Given the description of an element on the screen output the (x, y) to click on. 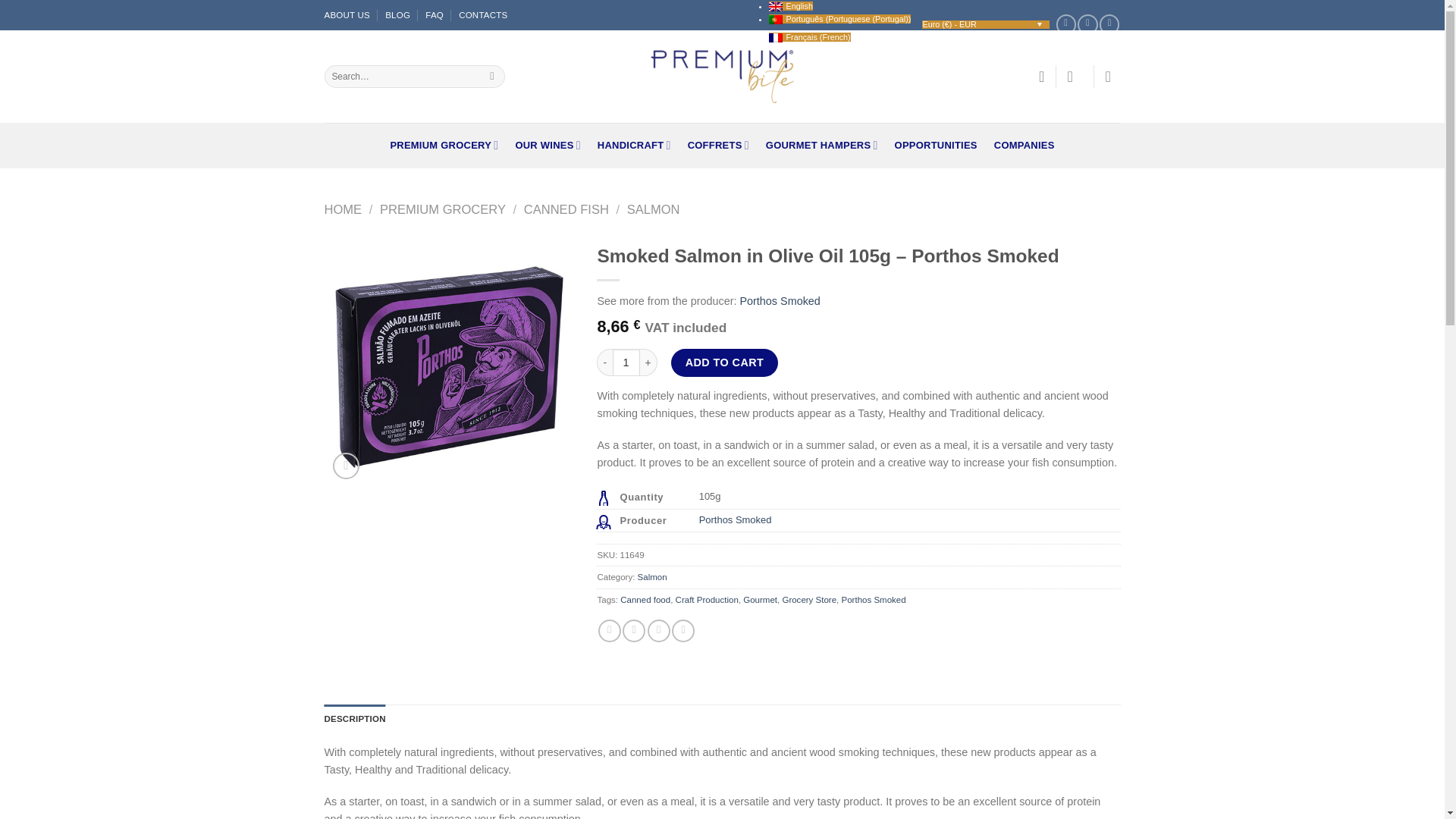
Search (491, 76)
Follow on Facebook (1066, 24)
ABOUT US (347, 14)
BLOG (397, 14)
Zoom (346, 465)
Follow on Instagram (1087, 24)
Share on Facebook (609, 630)
Smoked-Salmon-in-Oil-105g---Porthos-min (449, 361)
CONTACTS (482, 14)
